Given the description of an element on the screen output the (x, y) to click on. 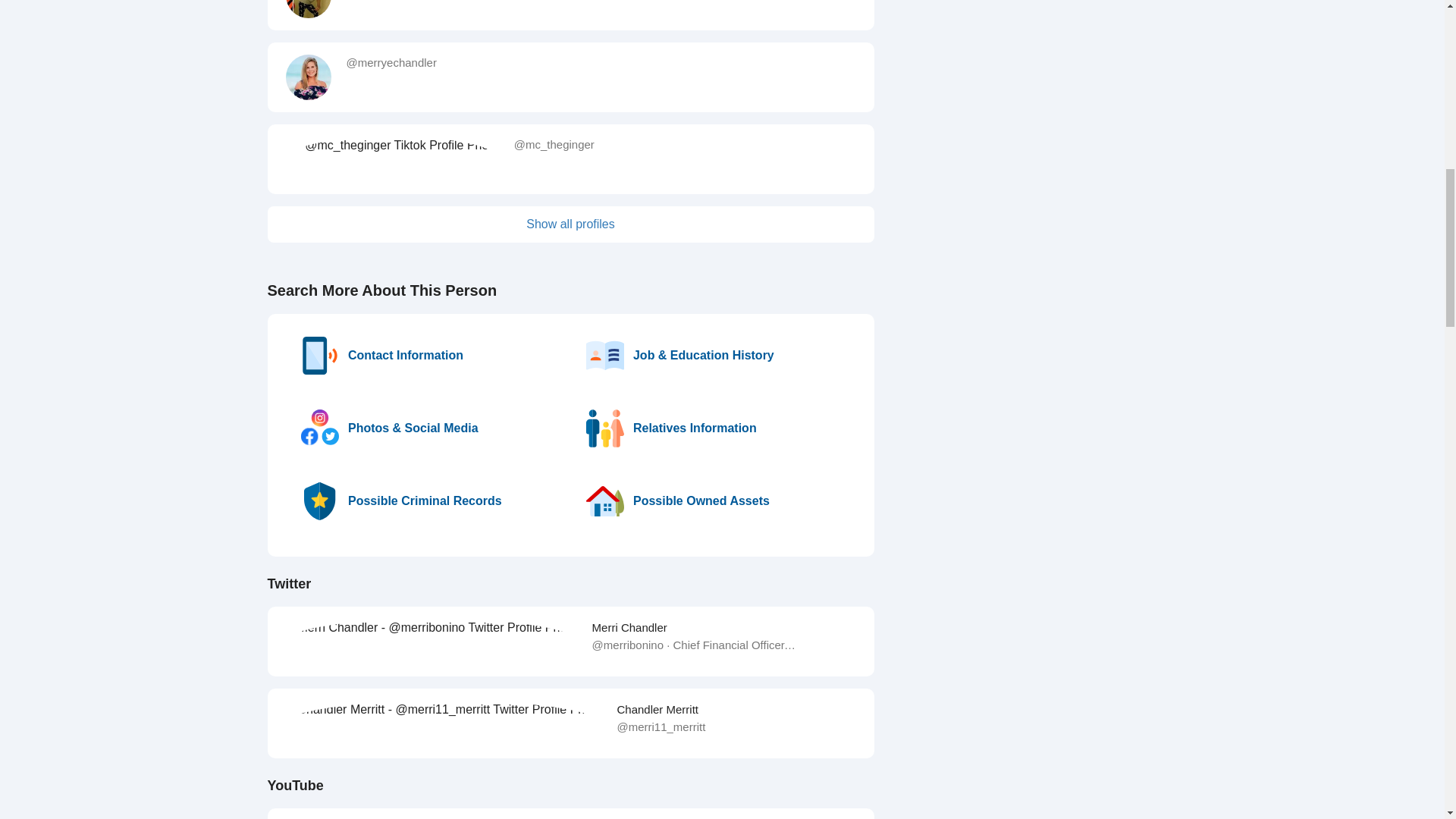
Chandler Merritt (656, 708)
Merri Chandler (629, 626)
Show all profiles (569, 224)
